Given the description of an element on the screen output the (x, y) to click on. 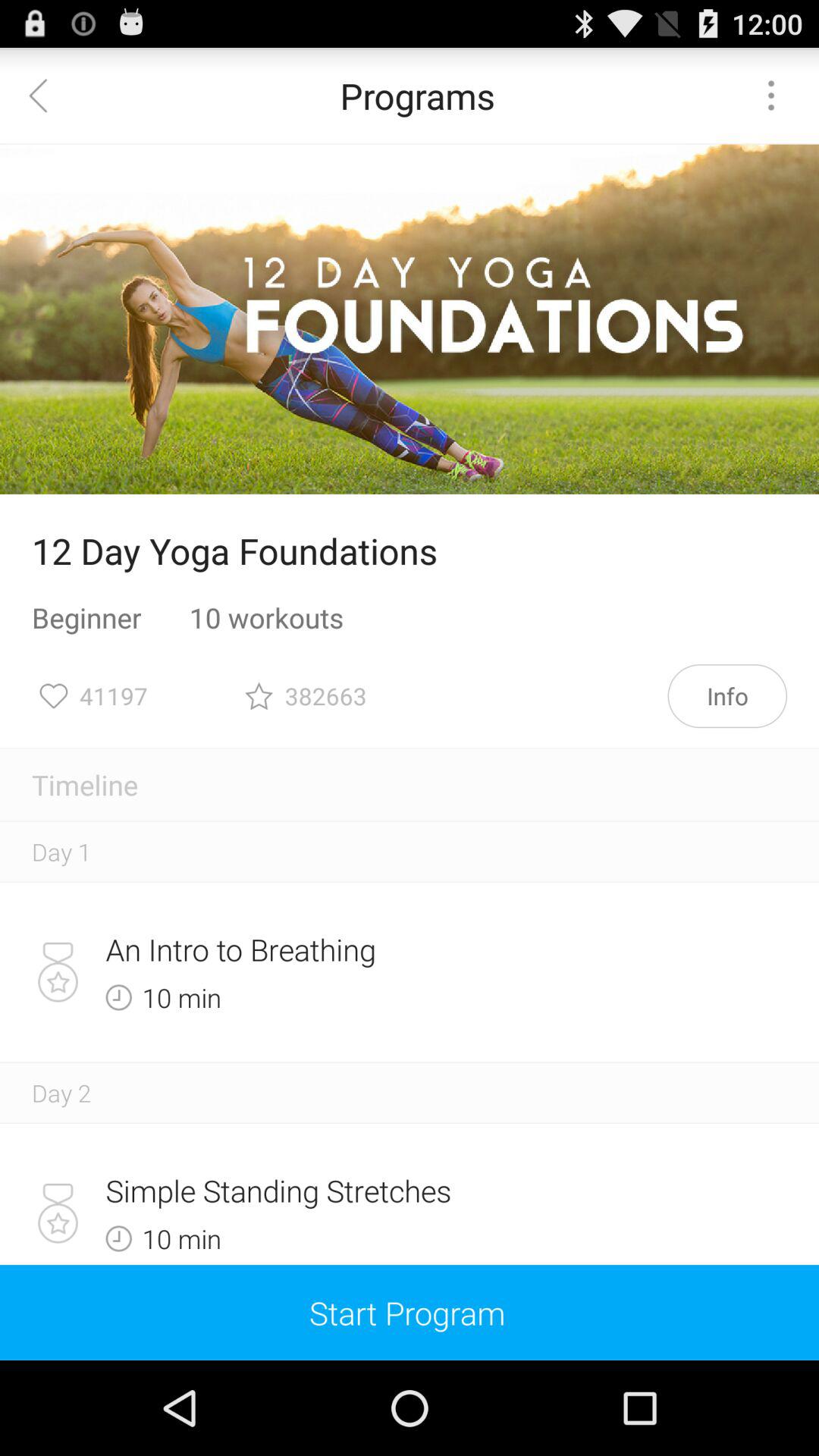
open menu (771, 95)
